Given the description of an element on the screen output the (x, y) to click on. 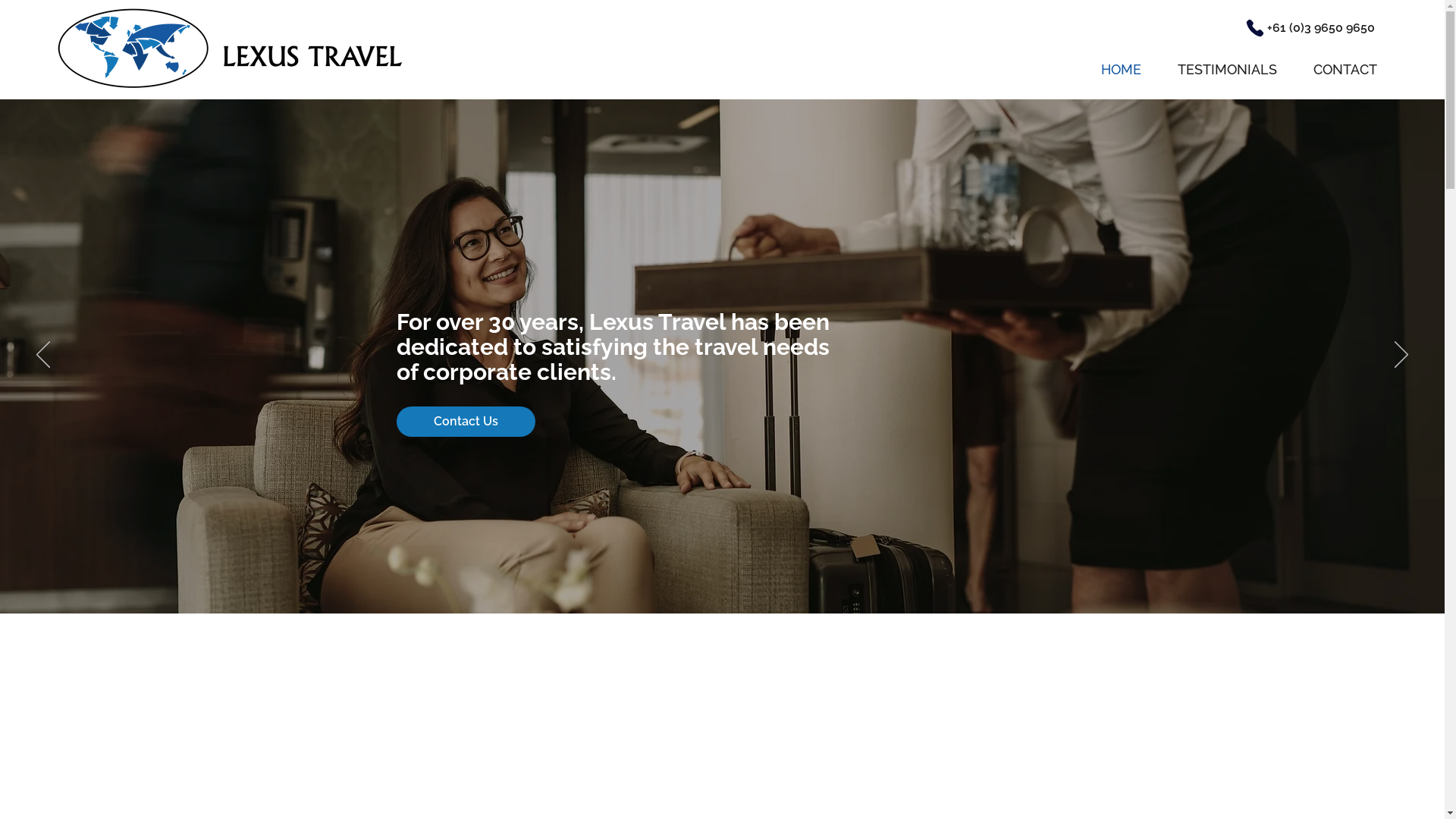
+61 (0)3 9650 9650 Element type: text (1320, 27)
CONTACT Element type: text (1334, 69)
Contact Us Element type: text (464, 421)
TESTIMONIALS Element type: text (1216, 69)
HOME Element type: text (1110, 69)
